Given the description of an element on the screen output the (x, y) to click on. 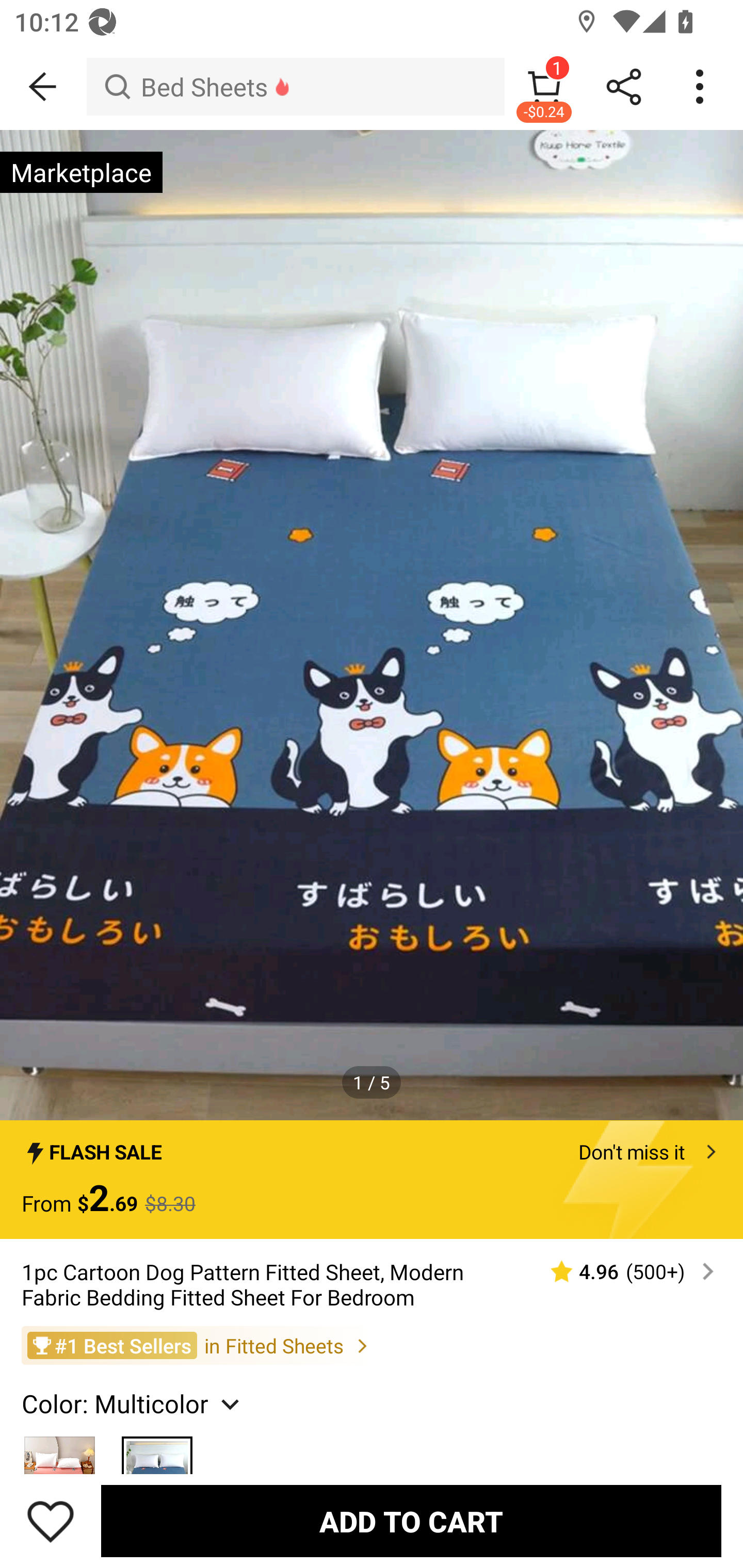
BACK (43, 86)
1 -$0.24 (543, 87)
Bed Sheets (295, 87)
1 / 5 (371, 1082)
FLASH SALE Don't miss it From  $2.69 $8.30 (371, 1178)
FLASH SALE Don't miss it (371, 1145)
4.96 (500‎+) (623, 1271)
#1 Best Sellers in Fitted Sheets (371, 1345)
Color: Multicolor (132, 1403)
Pink (59, 1446)
Multicolor (156, 1446)
ADD TO CART (411, 1520)
Save (50, 1520)
